Given the description of an element on the screen output the (x, y) to click on. 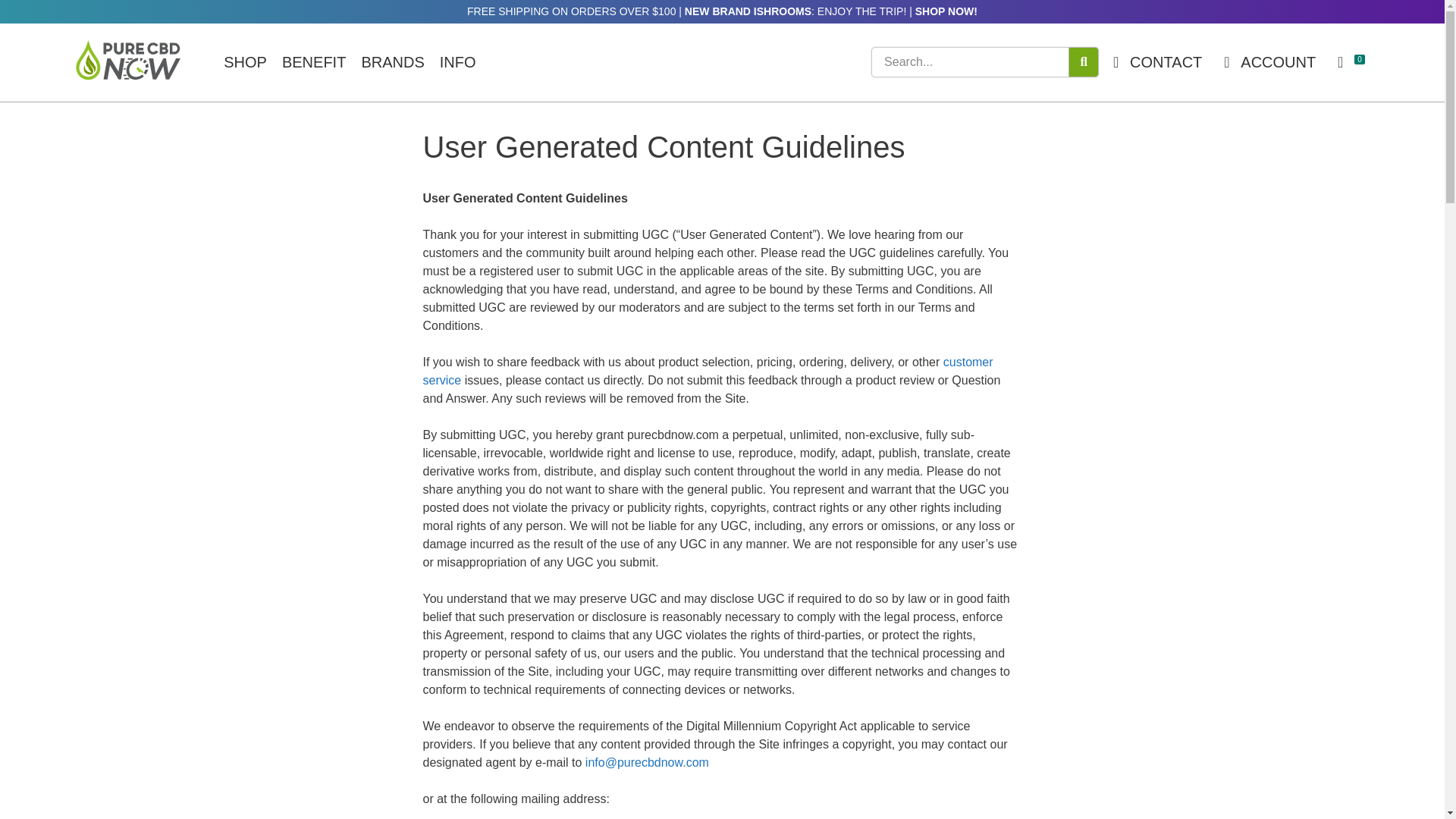
SHOP (245, 61)
SHOP NOW! (945, 10)
NEW BRAND ISHROOMS (747, 10)
